Given the description of an element on the screen output the (x, y) to click on. 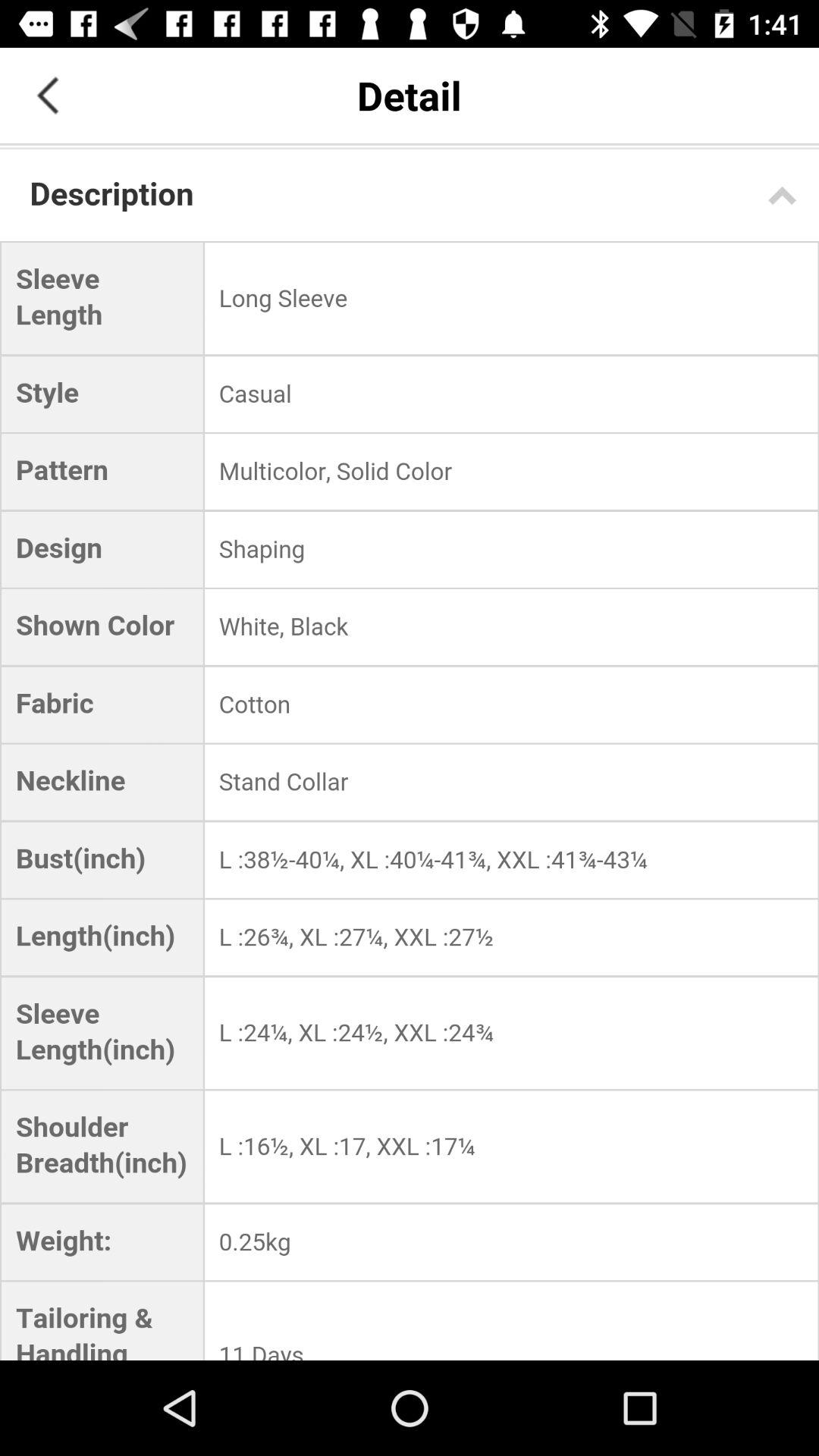
previous page (47, 95)
